Given the description of an element on the screen output the (x, y) to click on. 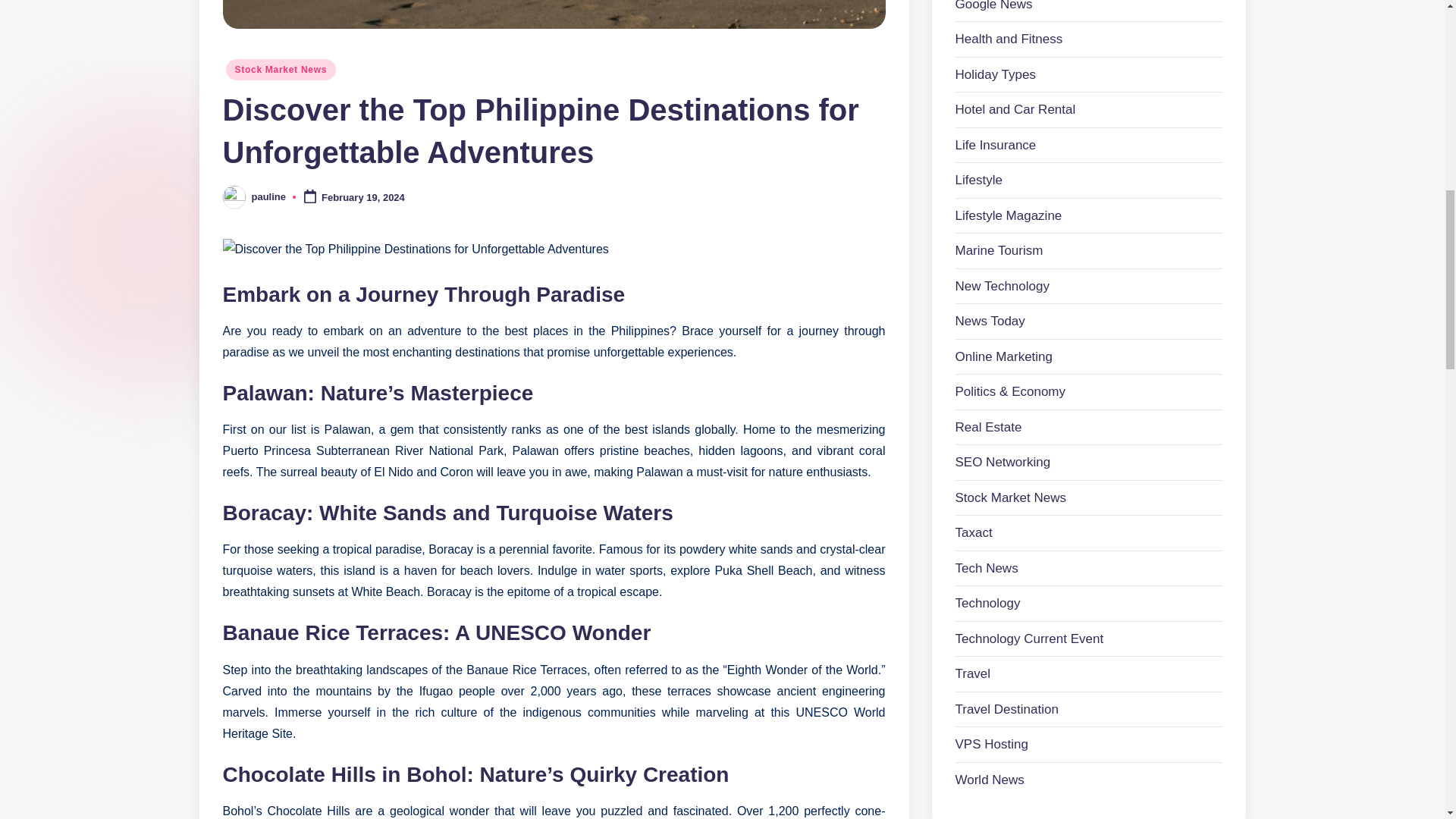
View all posts by pauline (268, 196)
